Given the description of an element on the screen output the (x, y) to click on. 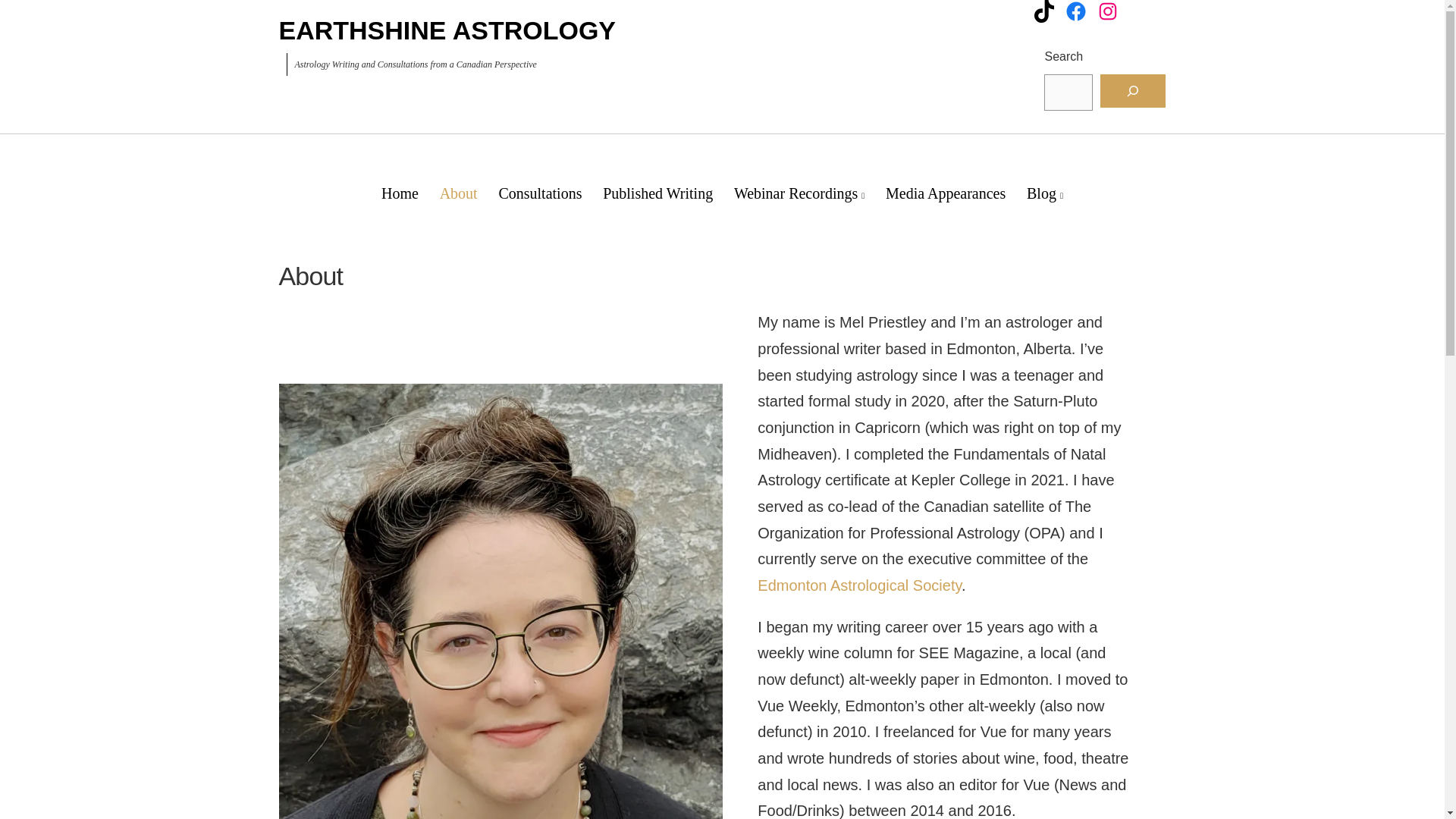
Facebook (1075, 11)
Published Writing (658, 193)
Edmonton Astrological Society (858, 585)
TikTok (1043, 11)
Instagram (1107, 11)
Blog (1044, 194)
Media Appearances (945, 193)
EARTHSHINE ASTROLOGY (447, 30)
Home (400, 193)
Webinar Recordings (799, 194)
About (458, 193)
Consultations (540, 193)
